Given the description of an element on the screen output the (x, y) to click on. 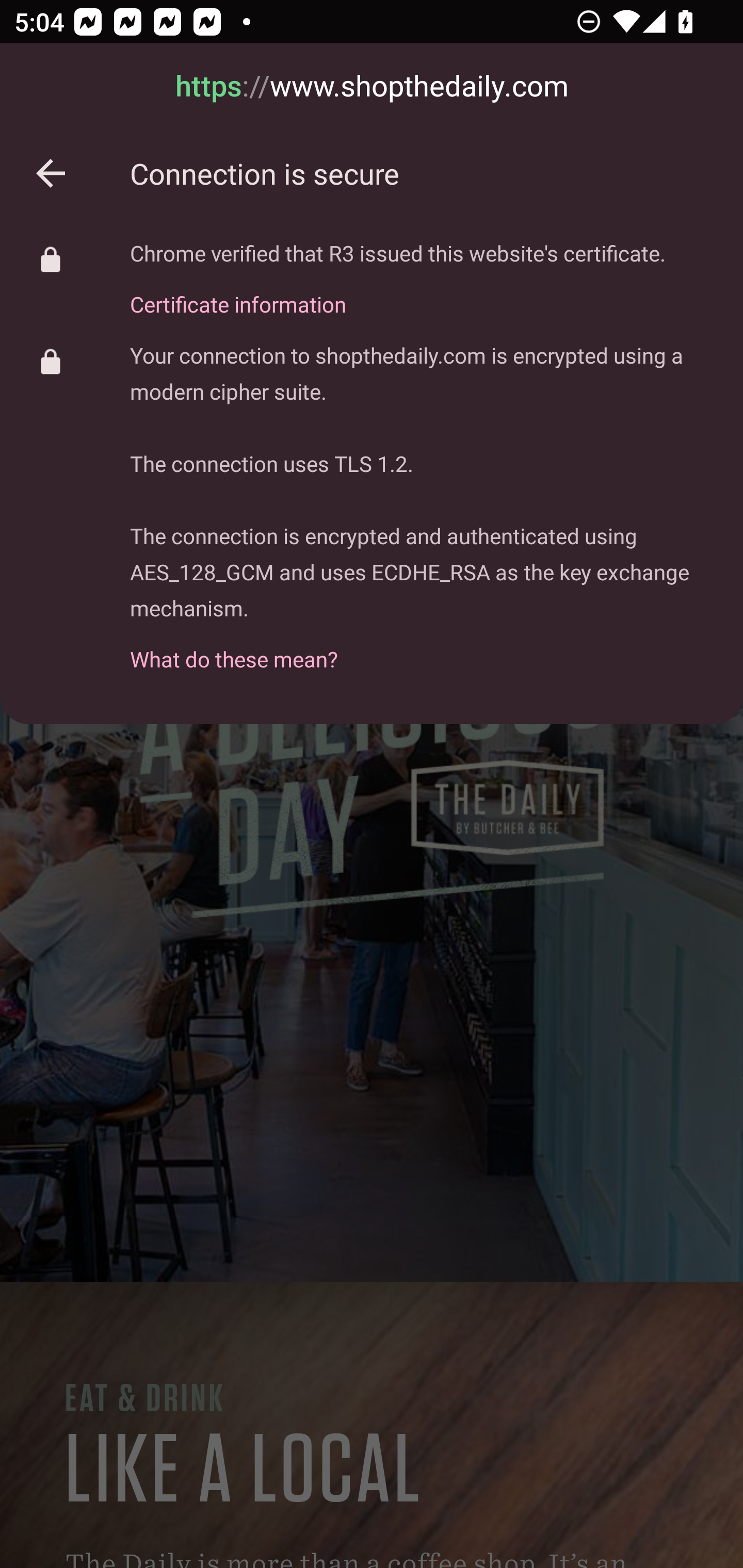
https://www.shopthedaily.com (371, 86)
Back (50, 173)
Certificate information (398, 293)
What do these mean? (422, 648)
